Given the description of an element on the screen output the (x, y) to click on. 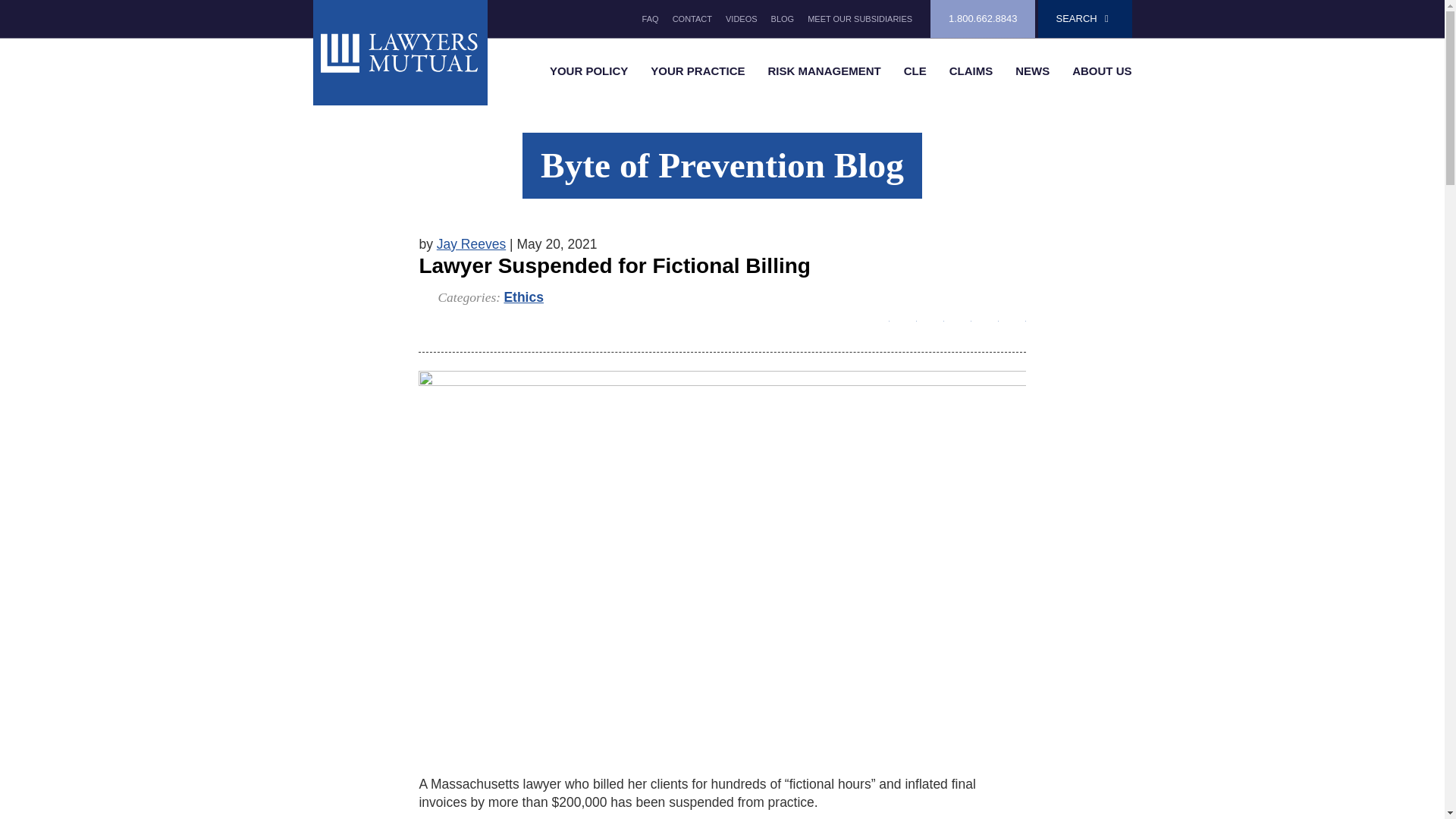
YOUR PRACTICE (697, 71)
CLAIMS (970, 71)
RISK MANAGEMENT (823, 71)
NEWS (1032, 71)
ABOUT US (1101, 71)
CLE (914, 71)
YOUR POLICY (588, 71)
